Given the description of an element on the screen output the (x, y) to click on. 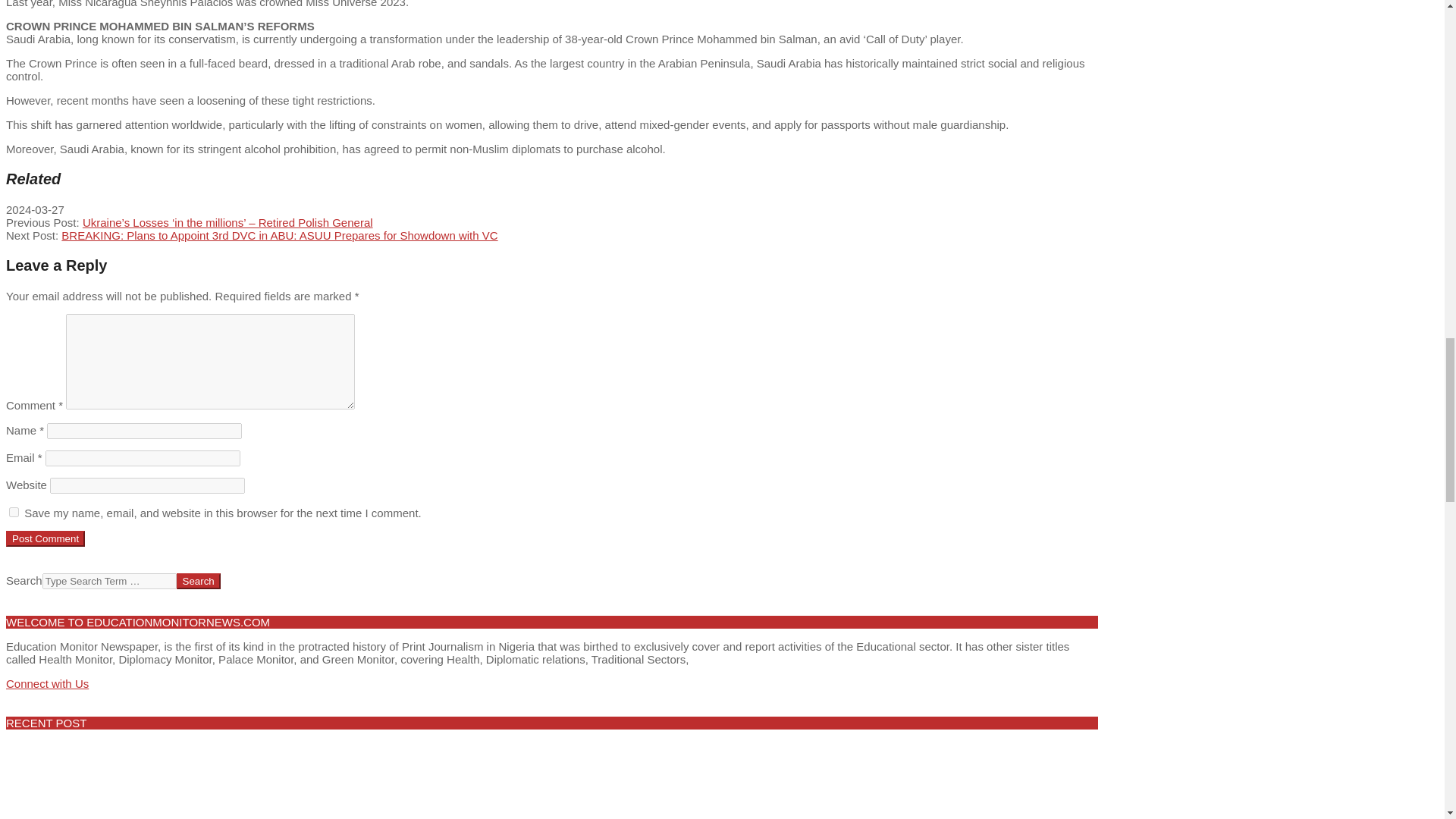
Post Comment (44, 538)
Search (198, 580)
Post Comment (44, 538)
yes (13, 511)
Connect with Us (46, 683)
Search (198, 580)
